Given the description of an element on the screen output the (x, y) to click on. 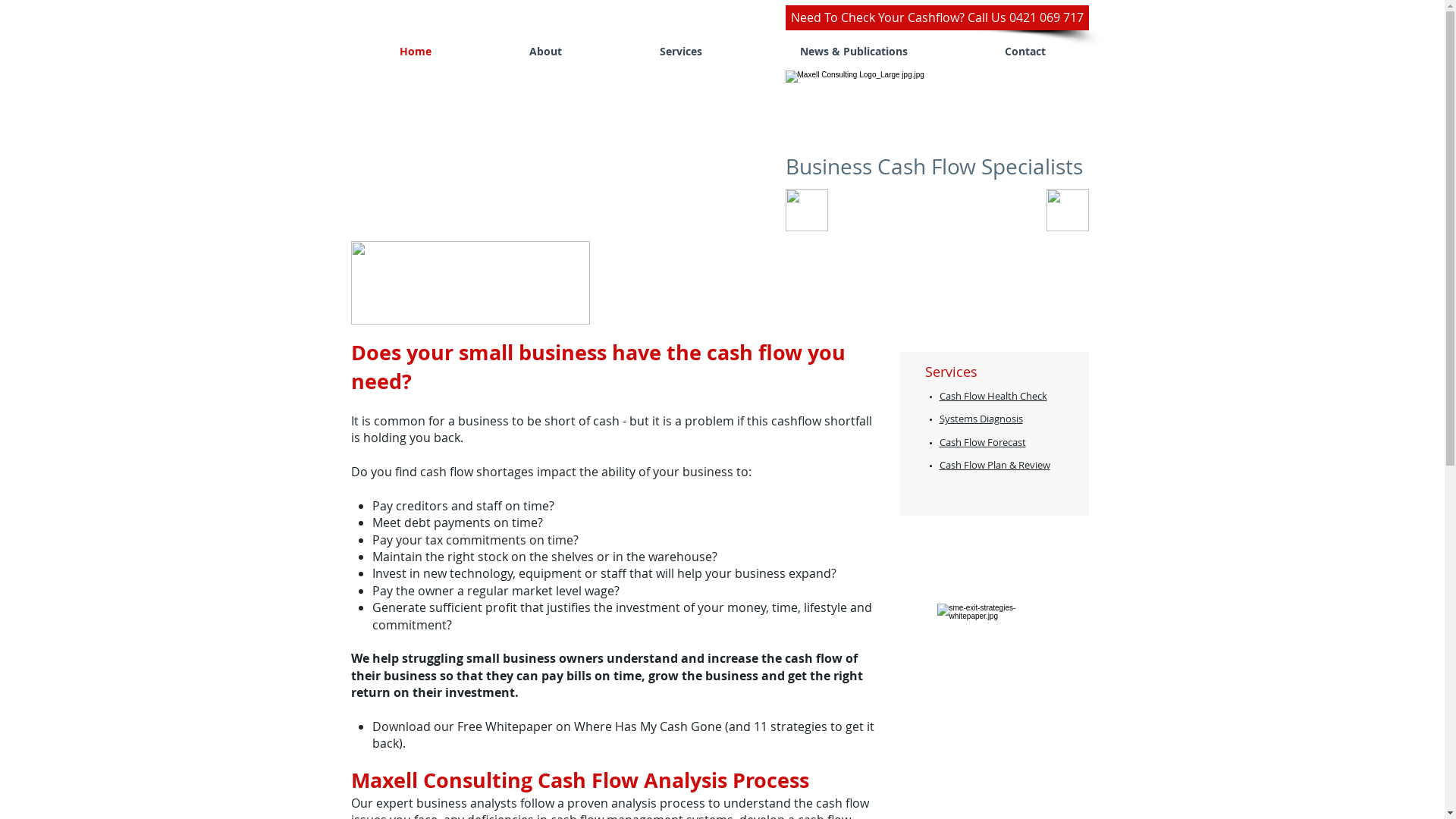
News & Publications Element type: text (852, 50)
Cash Flow Health Check Element type: text (992, 395)
About Element type: text (545, 50)
Need To Check Your Cashflow? Call Us 0421 069 717 Element type: text (936, 17)
Services Element type: text (681, 50)
Generate Cash.jpg Element type: hover (469, 282)
Systems Diagnosis Element type: text (980, 418)
Cash Flow Forecast Element type: text (981, 441)
Home Element type: text (415, 50)
Contact Element type: text (1024, 50)
